Given the description of an element on the screen output the (x, y) to click on. 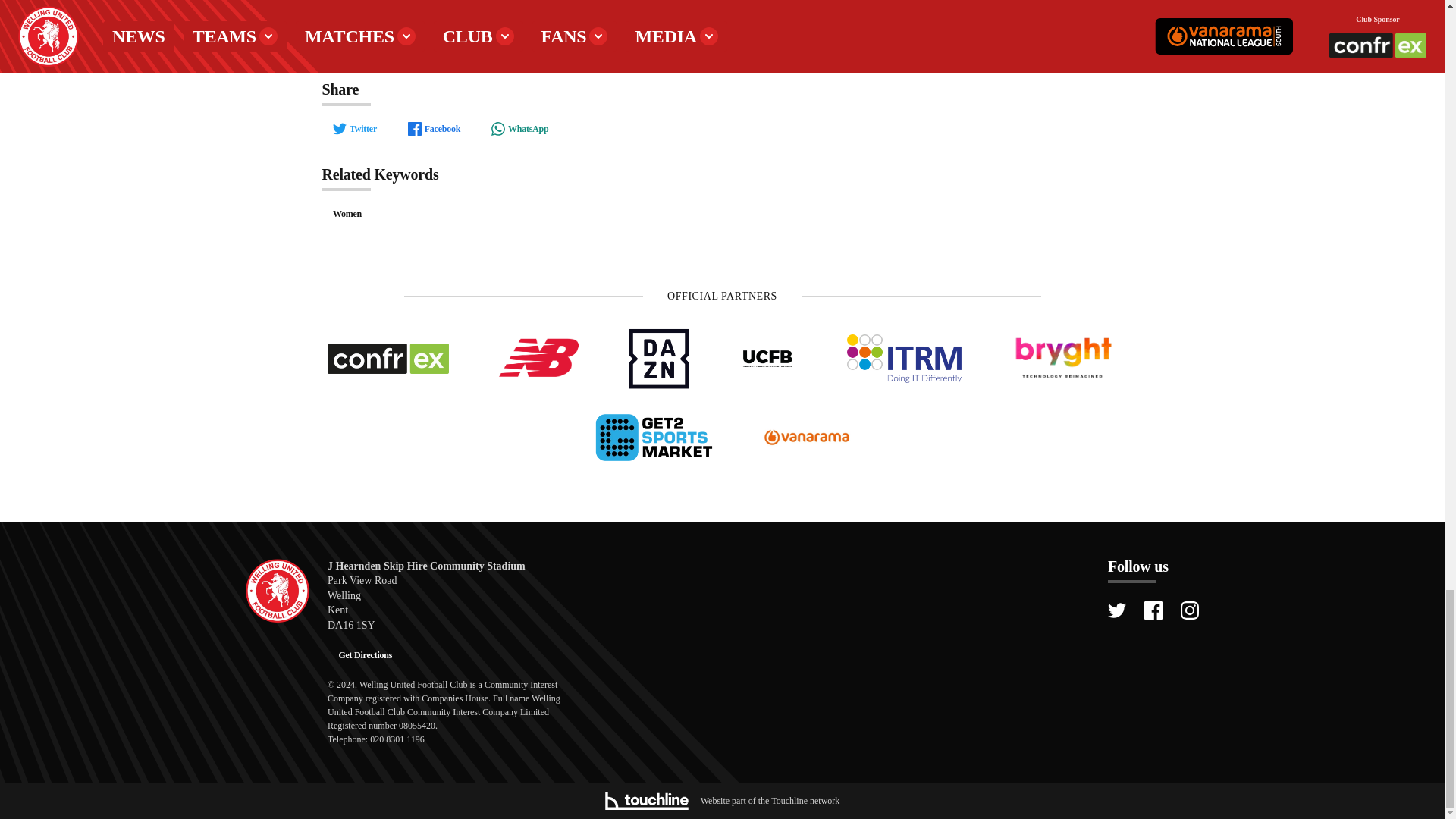
Find us on Facebook (1152, 610)
Find us on Twitter (1116, 610)
Find us on Instagram (1189, 610)
